Given the description of an element on the screen output the (x, y) to click on. 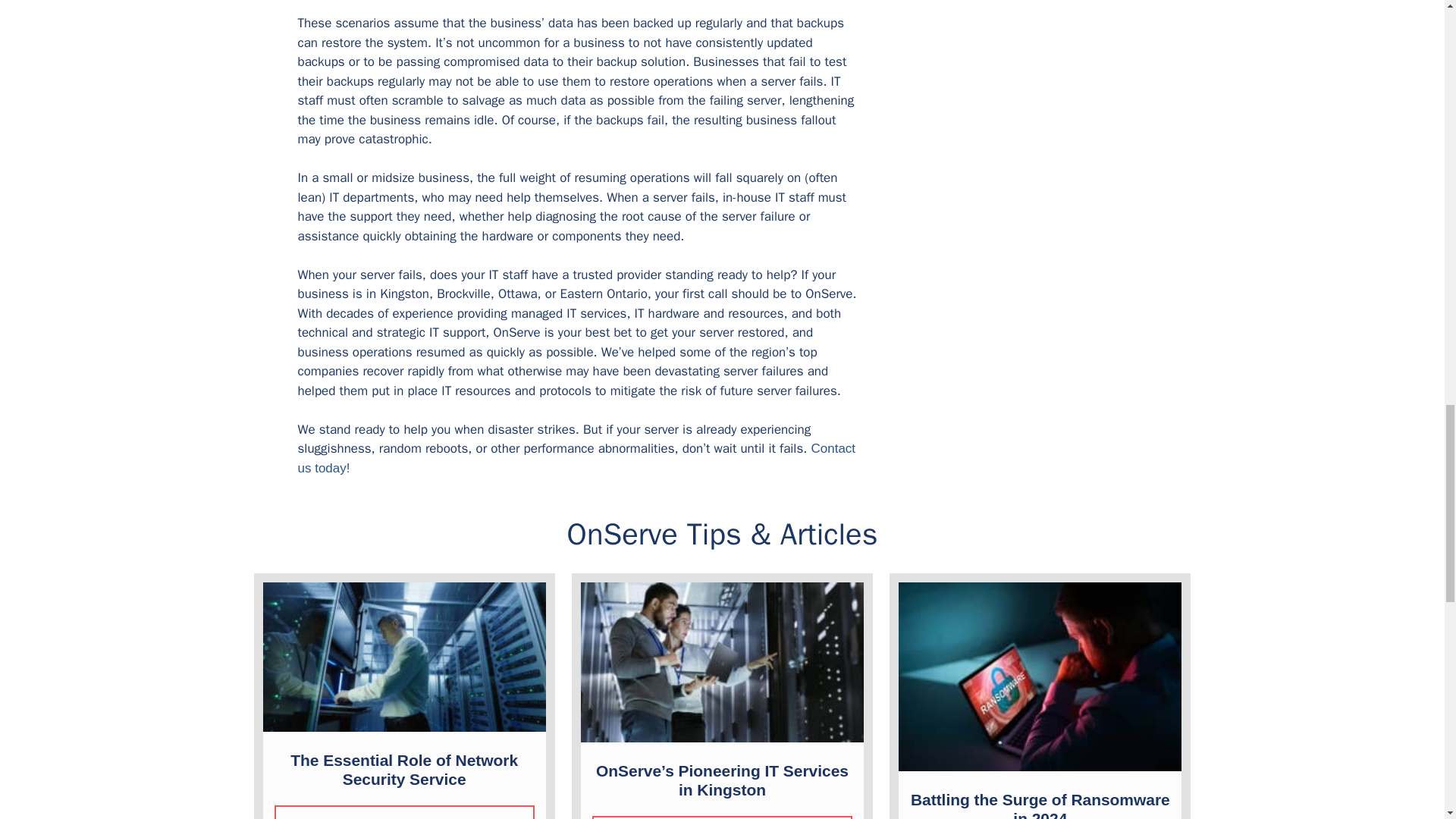
The Essential Role of Network Security Service (403, 769)
Battling the Surge of Ransomware in 2024 (1040, 805)
Contact us today! (576, 458)
